Given the description of an element on the screen output the (x, y) to click on. 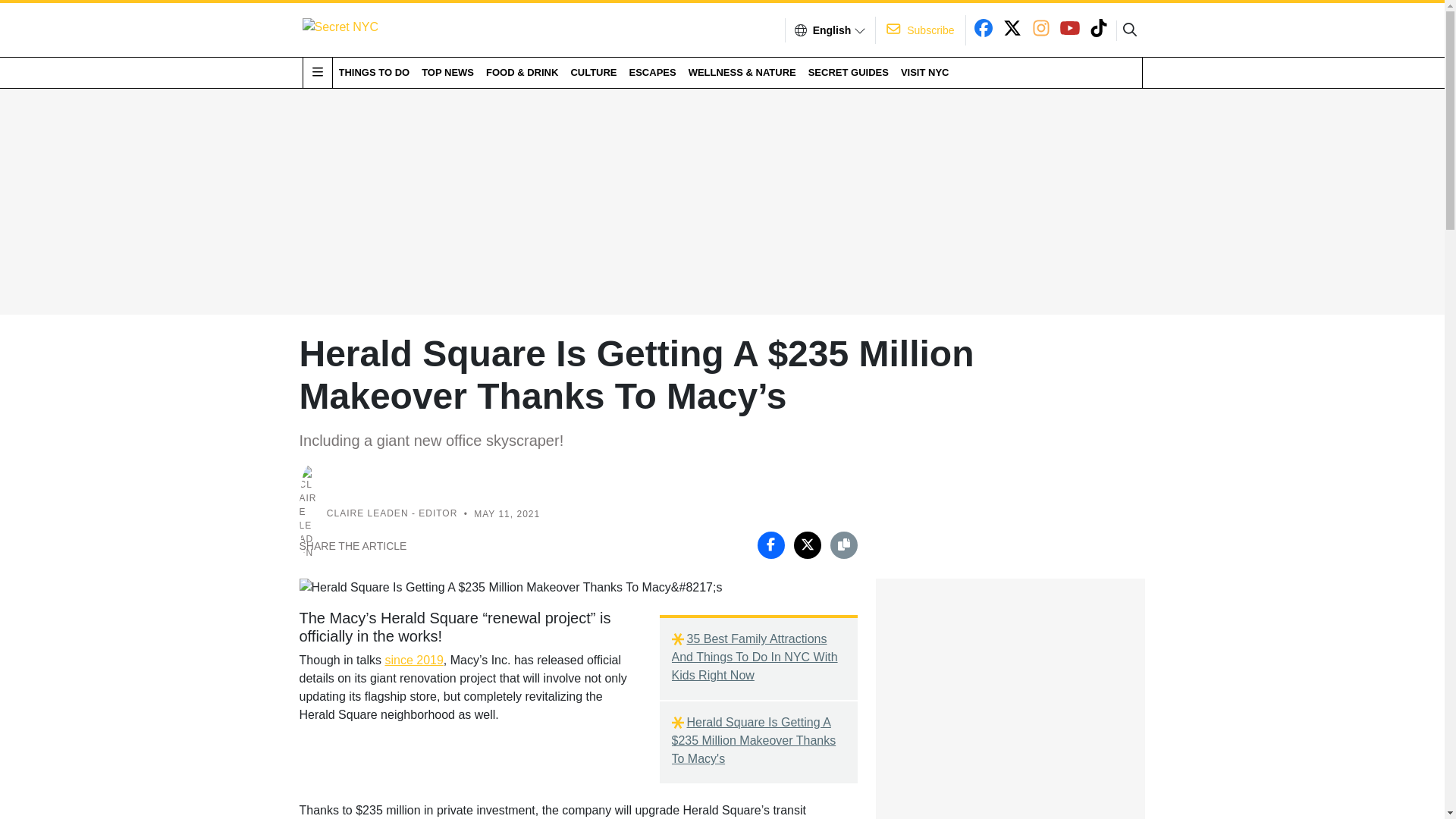
CLAIRE LEADEN (367, 513)
VISIT NYC (925, 72)
English (831, 29)
THINGS TO DO (373, 72)
SECRET GUIDES (848, 72)
ESCAPES (652, 72)
CULTURE (592, 72)
TOP NEWS (448, 72)
since 2019 (413, 659)
